Given the description of an element on the screen output the (x, y) to click on. 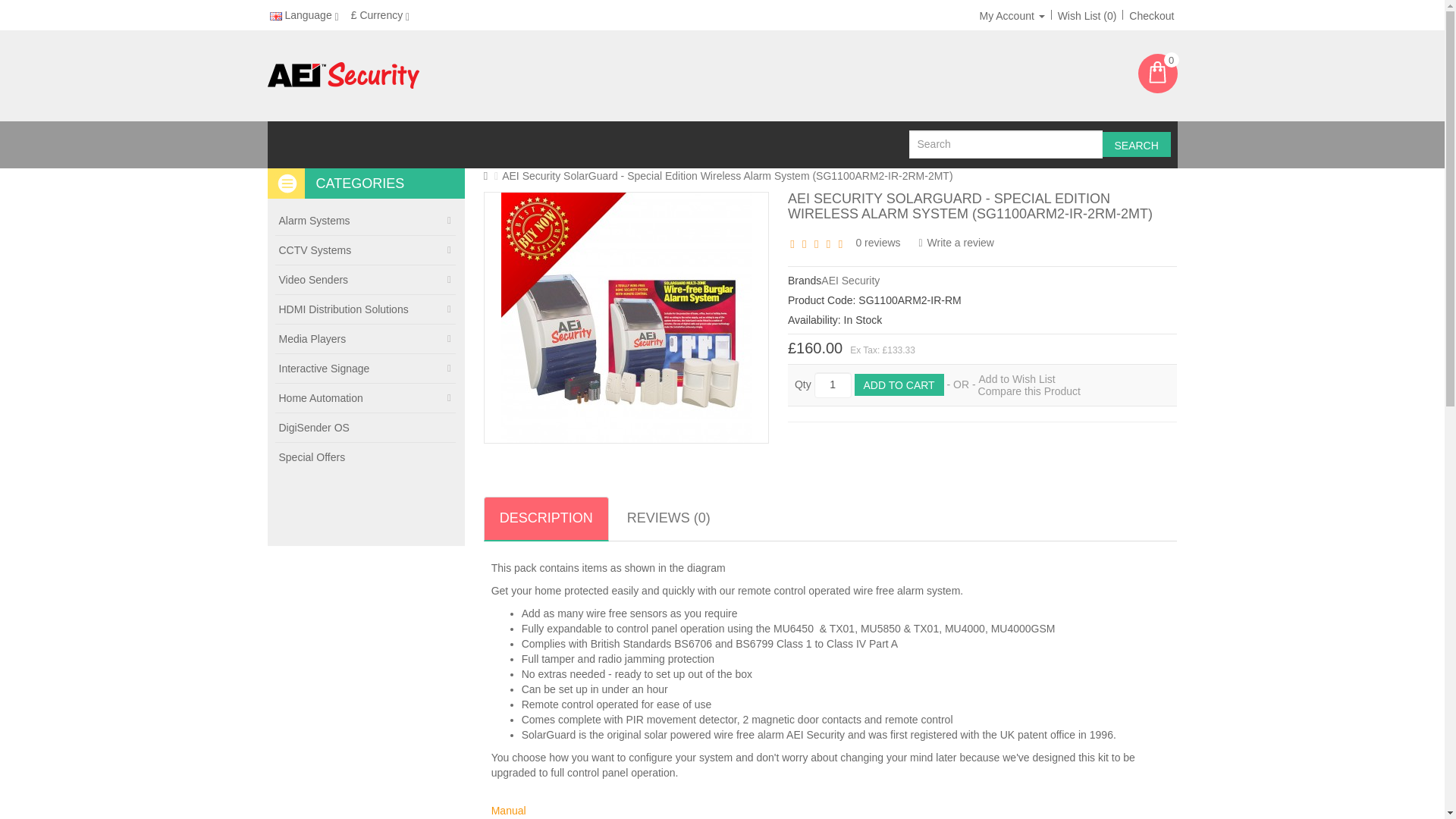
My Account (1012, 15)
English (275, 16)
1 (832, 385)
SEARCH (1136, 144)
Checkout (1151, 15)
Checkout (1151, 15)
My Account (1012, 15)
Language  (303, 15)
0 (1156, 73)
